Given the description of an element on the screen output the (x, y) to click on. 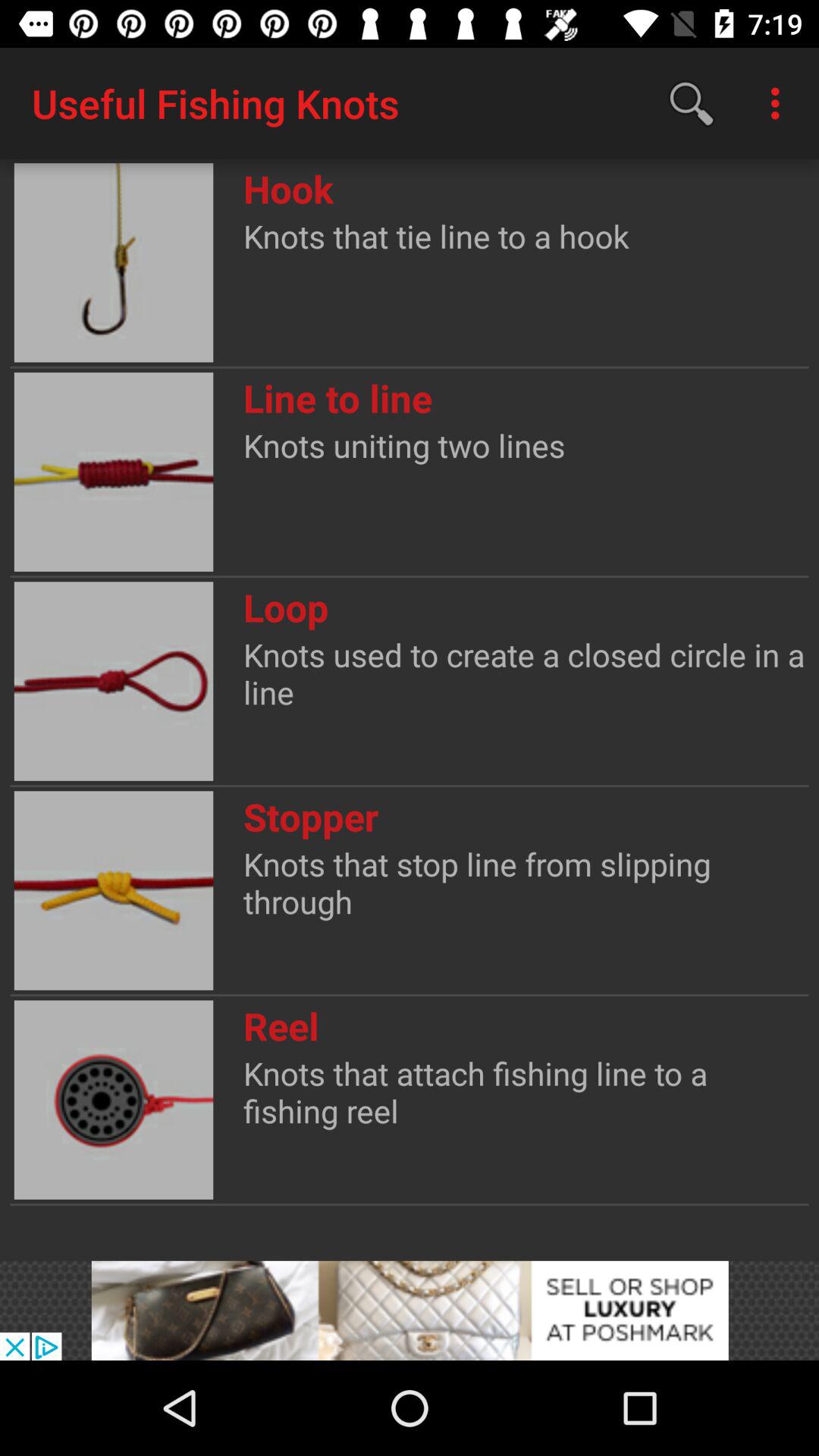
go to the advertisement (409, 1310)
